Given the description of an element on the screen output the (x, y) to click on. 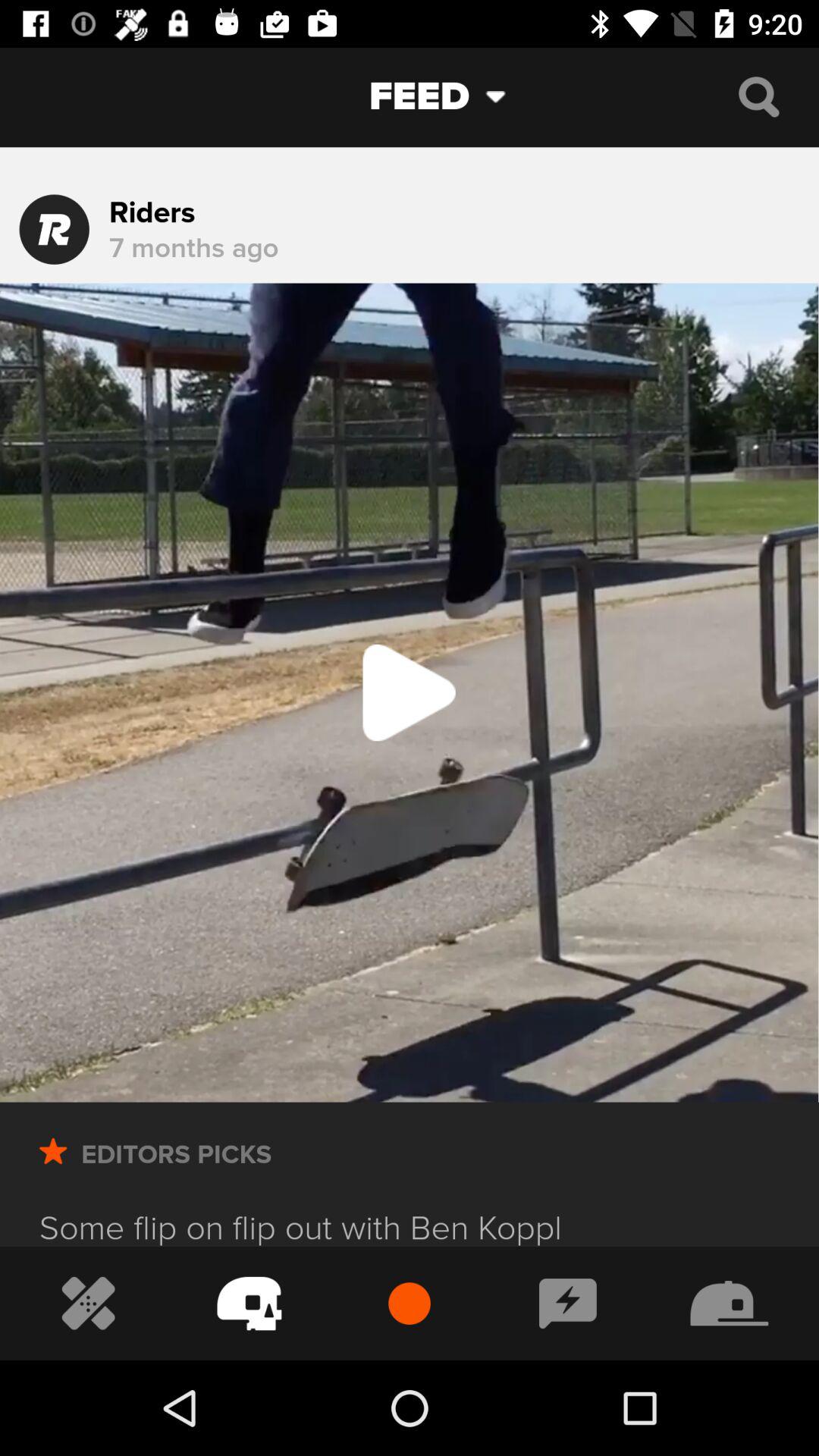
click on icon left to orange colour icon at bottom (249, 1303)
